Given the description of an element on the screen output the (x, y) to click on. 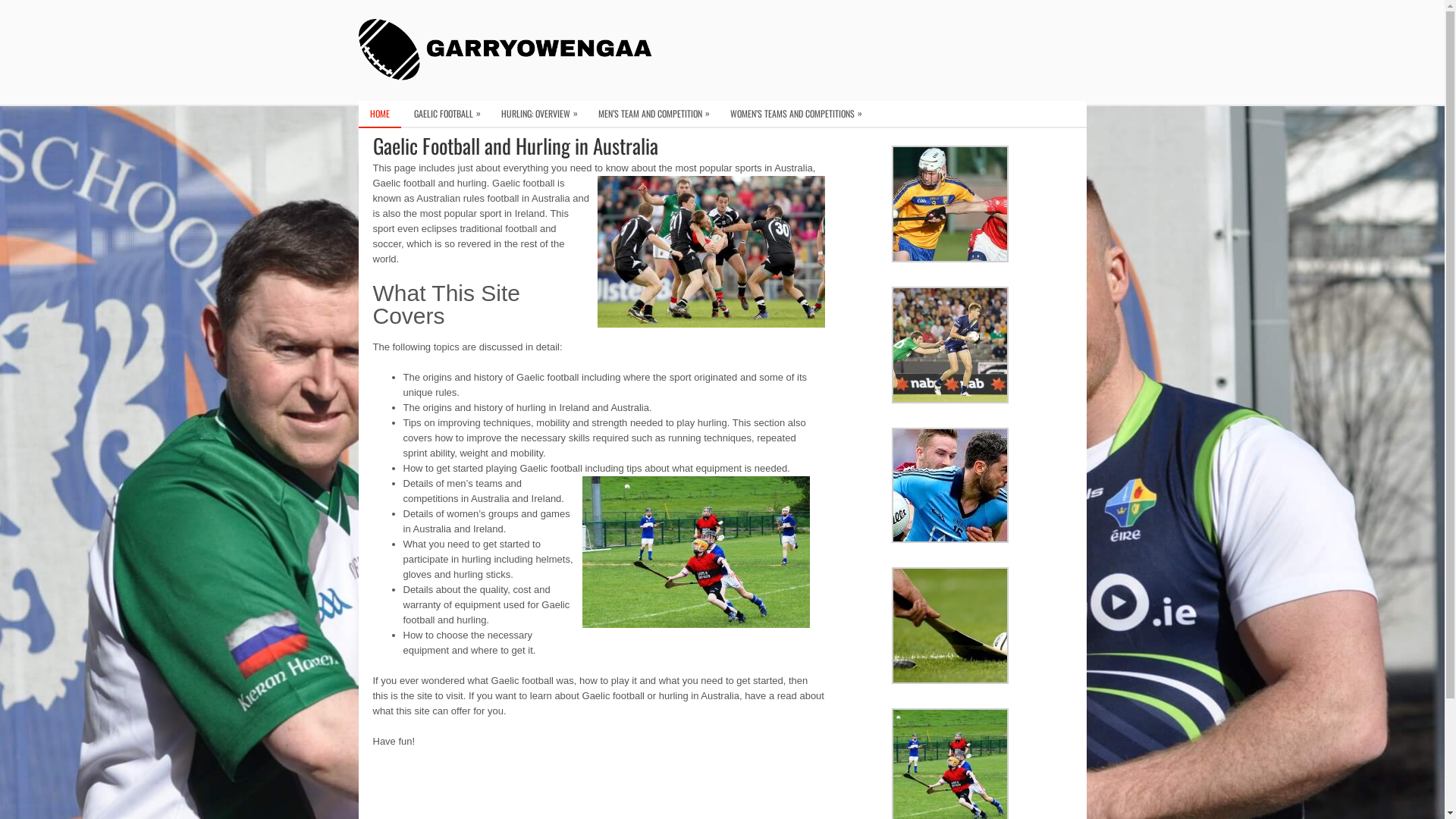
garryowengaa.com.au Element type: hover (509, 49)
HOME Element type: text (378, 113)
